Given the description of an element on the screen output the (x, y) to click on. 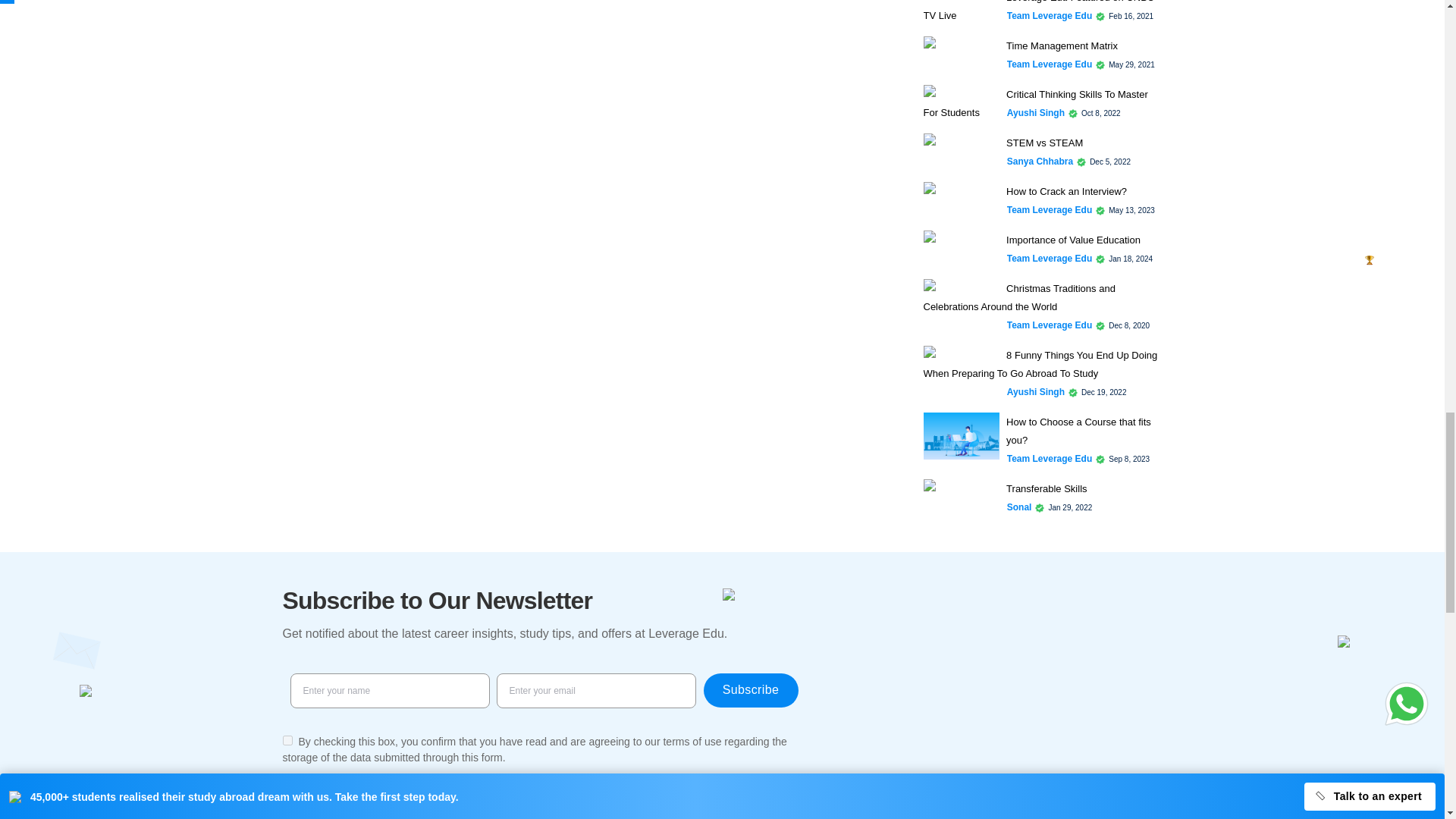
View all posts by Team Leverage Edu (1050, 210)
on (287, 740)
View all posts by Sanya Chhabra (1040, 161)
View all posts by Team Leverage Edu (1050, 15)
View all posts by Team Leverage Edu (1050, 325)
View all posts by Ayushi Singh (1035, 112)
View all posts by Team Leverage Edu (1050, 64)
View all posts by Team Leverage Edu (1050, 258)
